Given the description of an element on the screen output the (x, y) to click on. 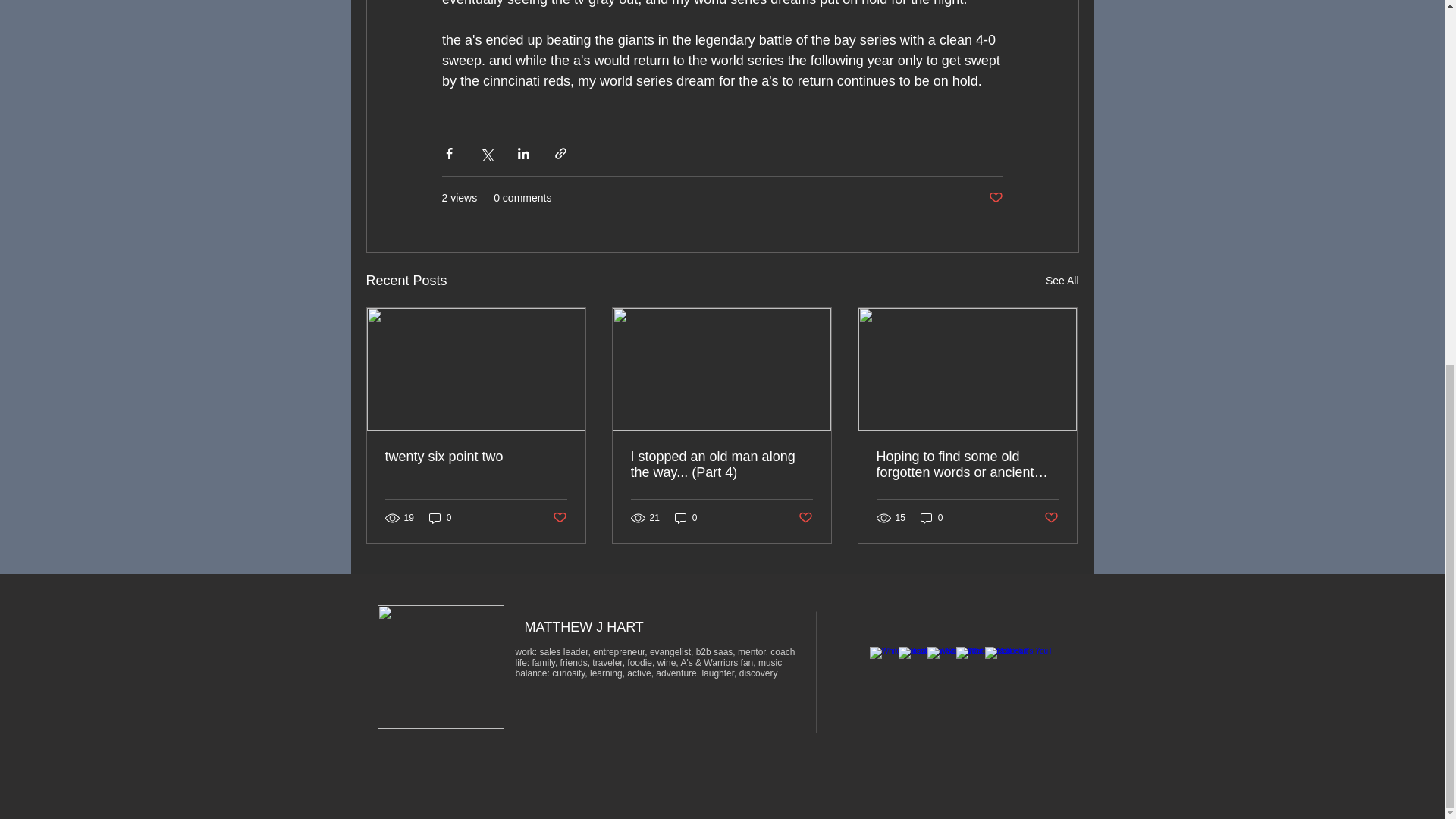
Post not marked as liked (995, 198)
0 (440, 518)
0 (931, 518)
Post not marked as liked (558, 517)
See All (1061, 280)
twenty six point two (476, 456)
Post not marked as liked (804, 517)
Post not marked as liked (1050, 517)
0 (685, 518)
